Given the description of an element on the screen output the (x, y) to click on. 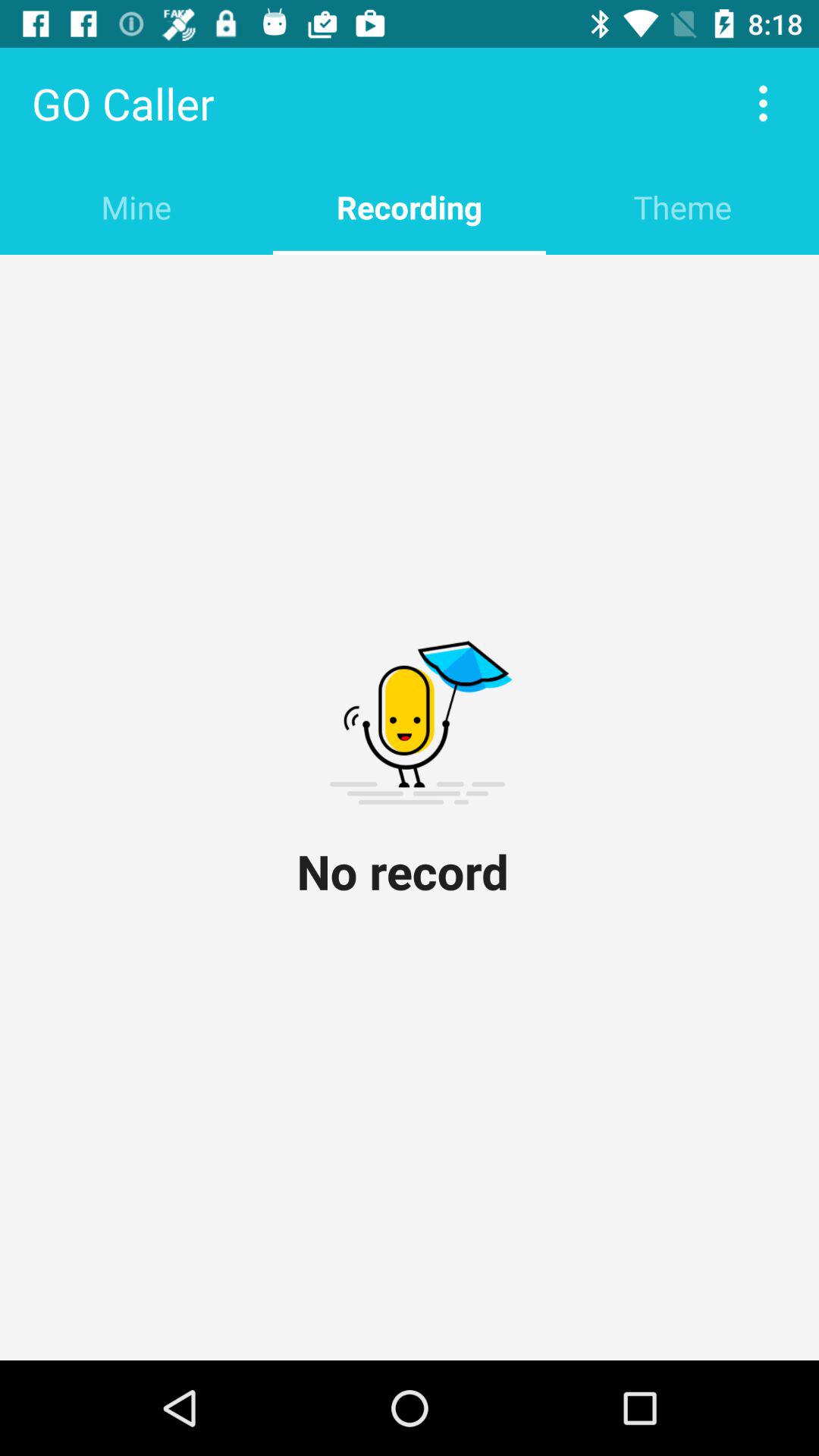
tap the icon next to the recording item (682, 206)
